Given the description of an element on the screen output the (x, y) to click on. 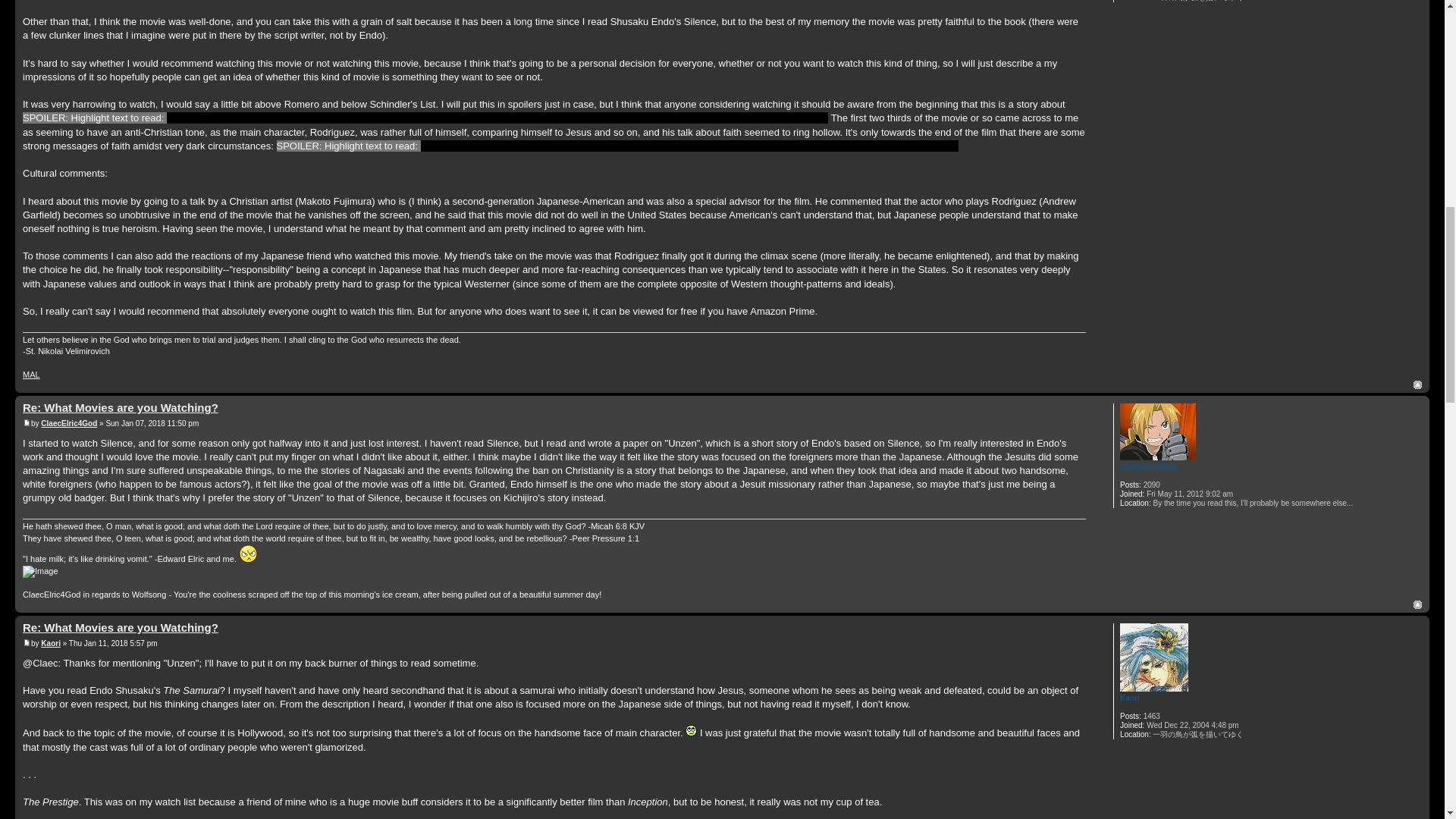
Top (1417, 384)
MAL (31, 374)
ClaecElric4God (1147, 466)
Post (26, 423)
ClaecElric4God (68, 423)
Top (1417, 384)
Re: What Movies are you Watching? (120, 407)
Top (1417, 604)
Full Metal Ed (247, 553)
